Given the description of an element on the screen output the (x, y) to click on. 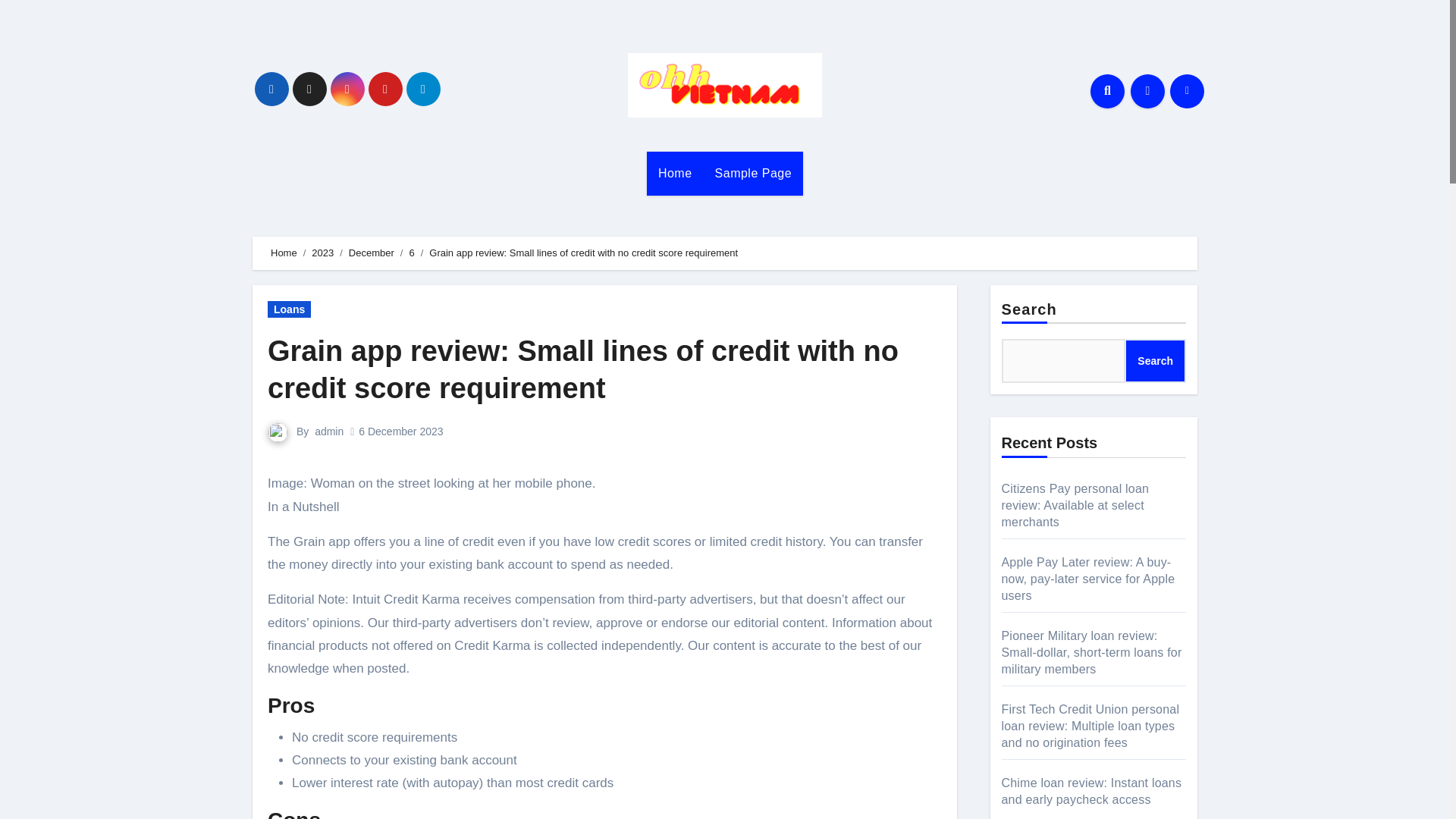
Sample Page (753, 173)
admin (328, 431)
2023 (322, 252)
December (371, 252)
Home (674, 173)
Home (283, 252)
Loans (289, 309)
Home (674, 173)
